Given the description of an element on the screen output the (x, y) to click on. 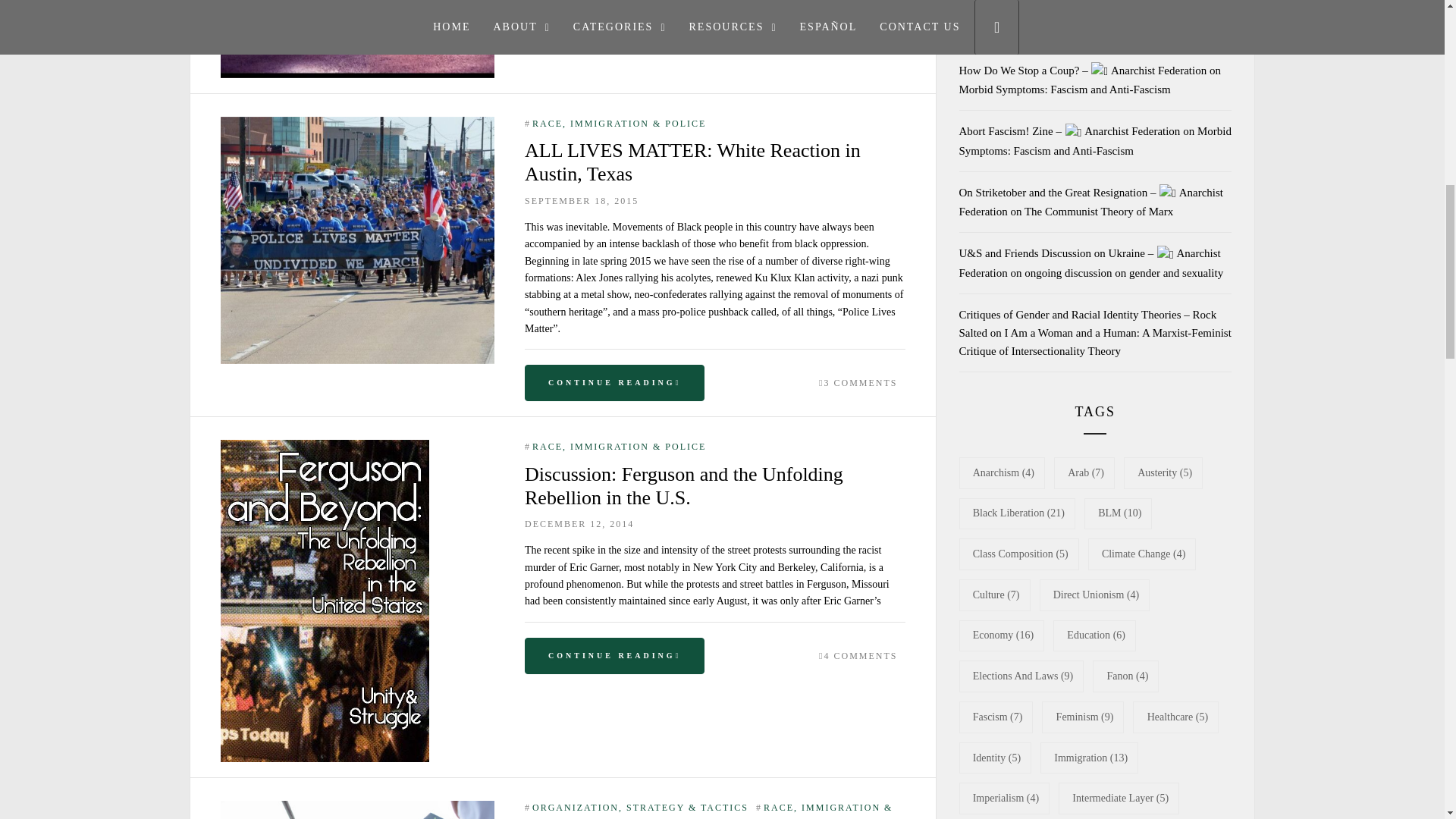
CONTINUE READING (614, 10)
ALL LIVES MATTER: White Reaction in Austin, Texas (358, 124)
Turn Up Htown: Reflections on Nov 25 Day of Action (358, 808)
Discussion: Ferguson and the Unfolding Rebellion in the U.S. (325, 447)
COMMENT (868, 3)
